Given the description of an element on the screen output the (x, y) to click on. 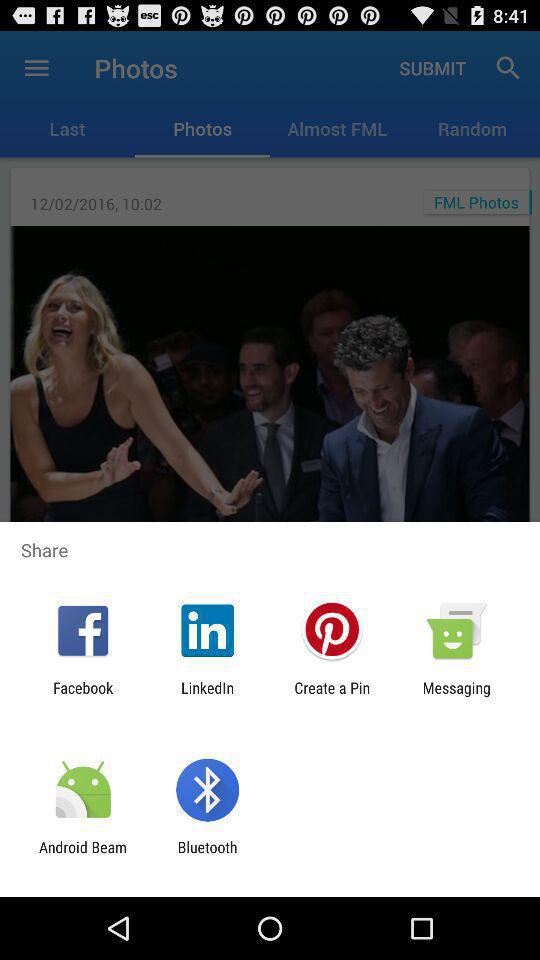
choose the icon next to linkedin icon (83, 696)
